Given the description of an element on the screen output the (x, y) to click on. 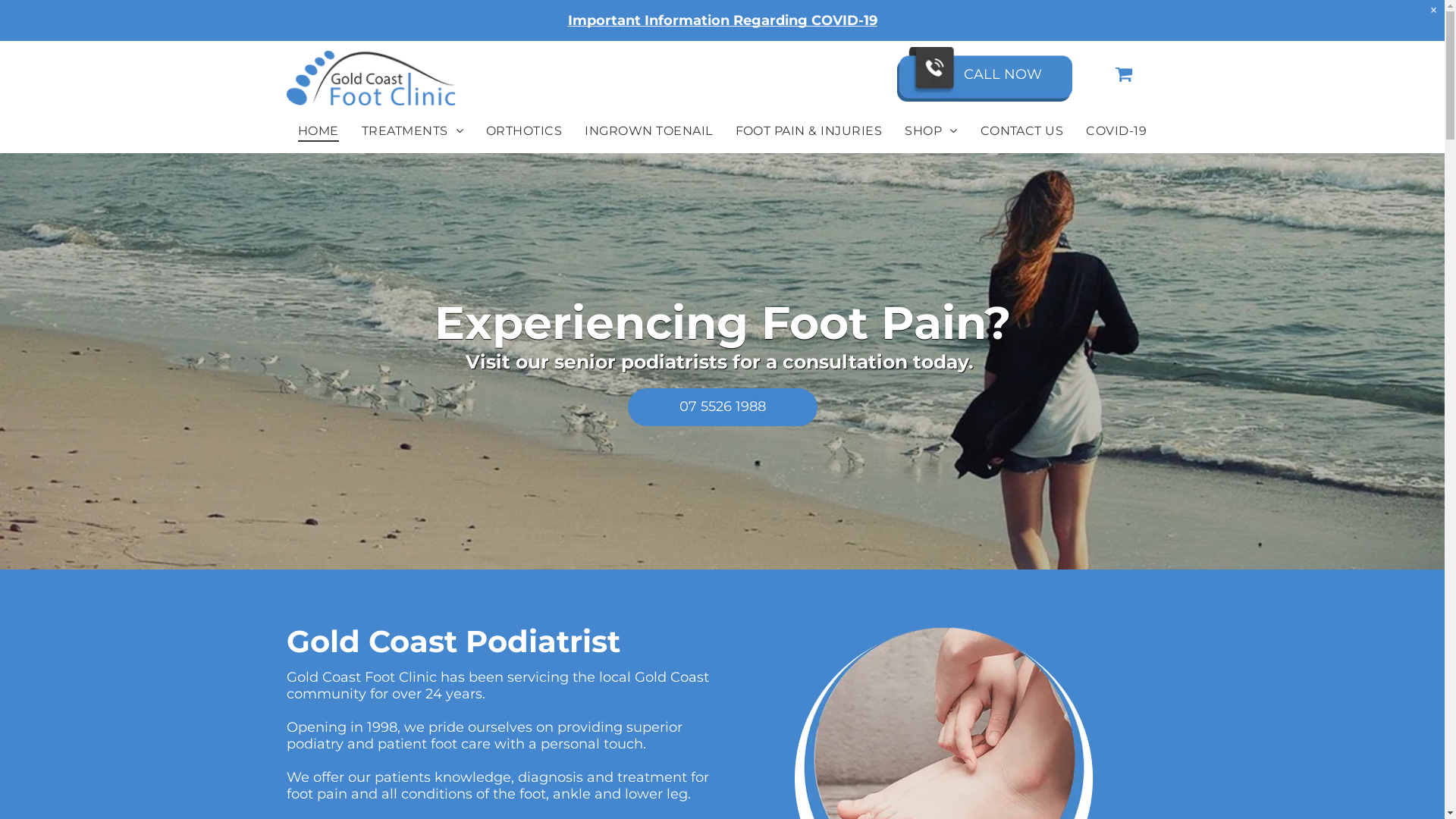
07 5526 1988 Element type: text (722, 409)
ORTHOTICS Element type: text (523, 130)
INGROWN TOENAIL Element type: text (648, 130)
FOOT PAIN & INJURIES Element type: text (809, 130)
SHOP Element type: text (930, 130)
TREATMENTS Element type: text (412, 130)
COVID-19 Element type: text (1115, 130)
HOME Element type: text (318, 130)
Important Information Regarding COVID-19 Element type: text (721, 20)
CALL NOW Element type: text (988, 74)
CONTACT US Element type: text (1022, 130)
